Given the description of an element on the screen output the (x, y) to click on. 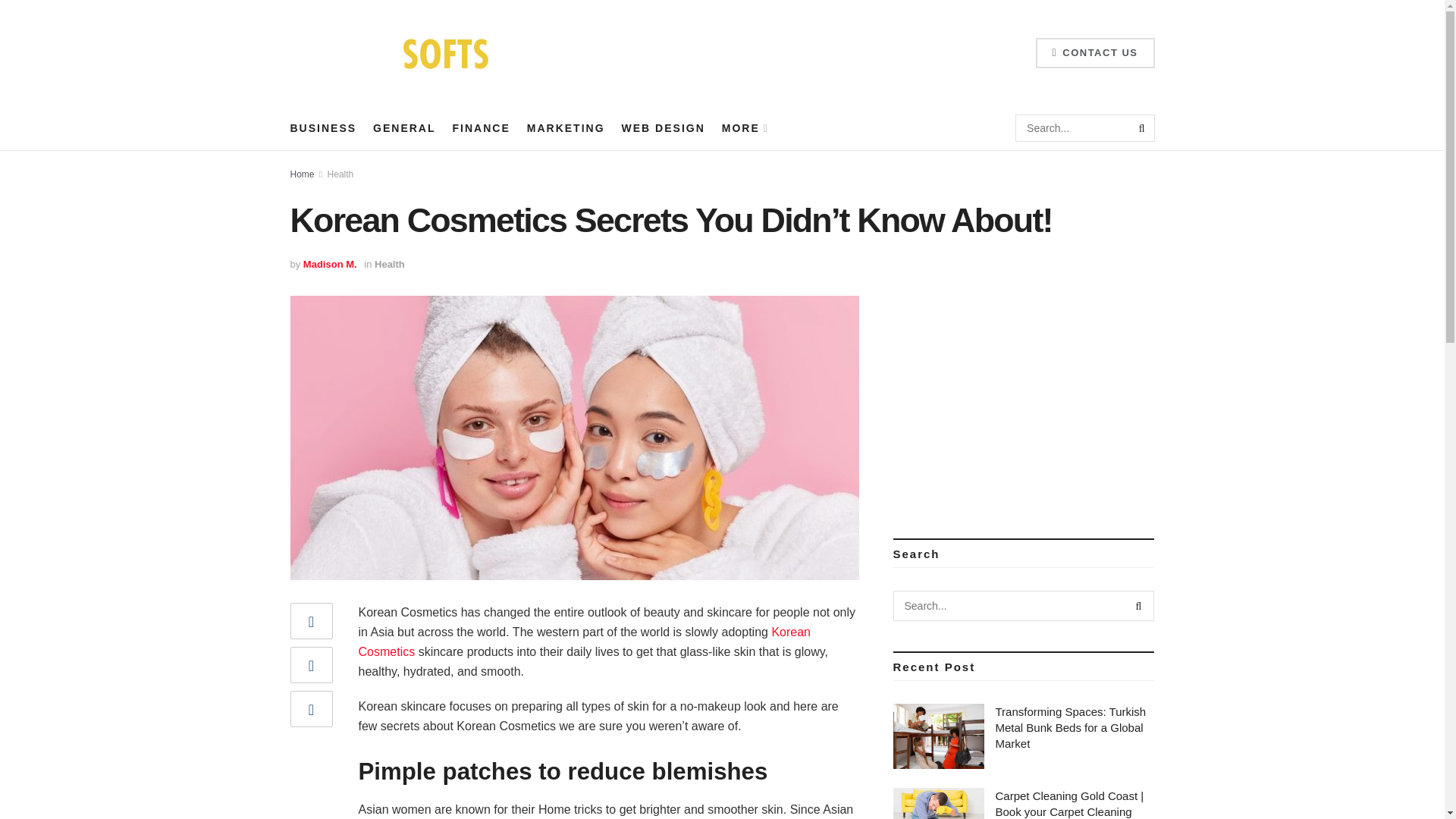
MARKETING (566, 127)
CONTACT US (1094, 52)
BUSINESS (322, 127)
Advertisement (1023, 401)
MORE (744, 127)
GENERAL (403, 127)
FINANCE (481, 127)
WEB DESIGN (662, 127)
